Given the description of an element on the screen output the (x, y) to click on. 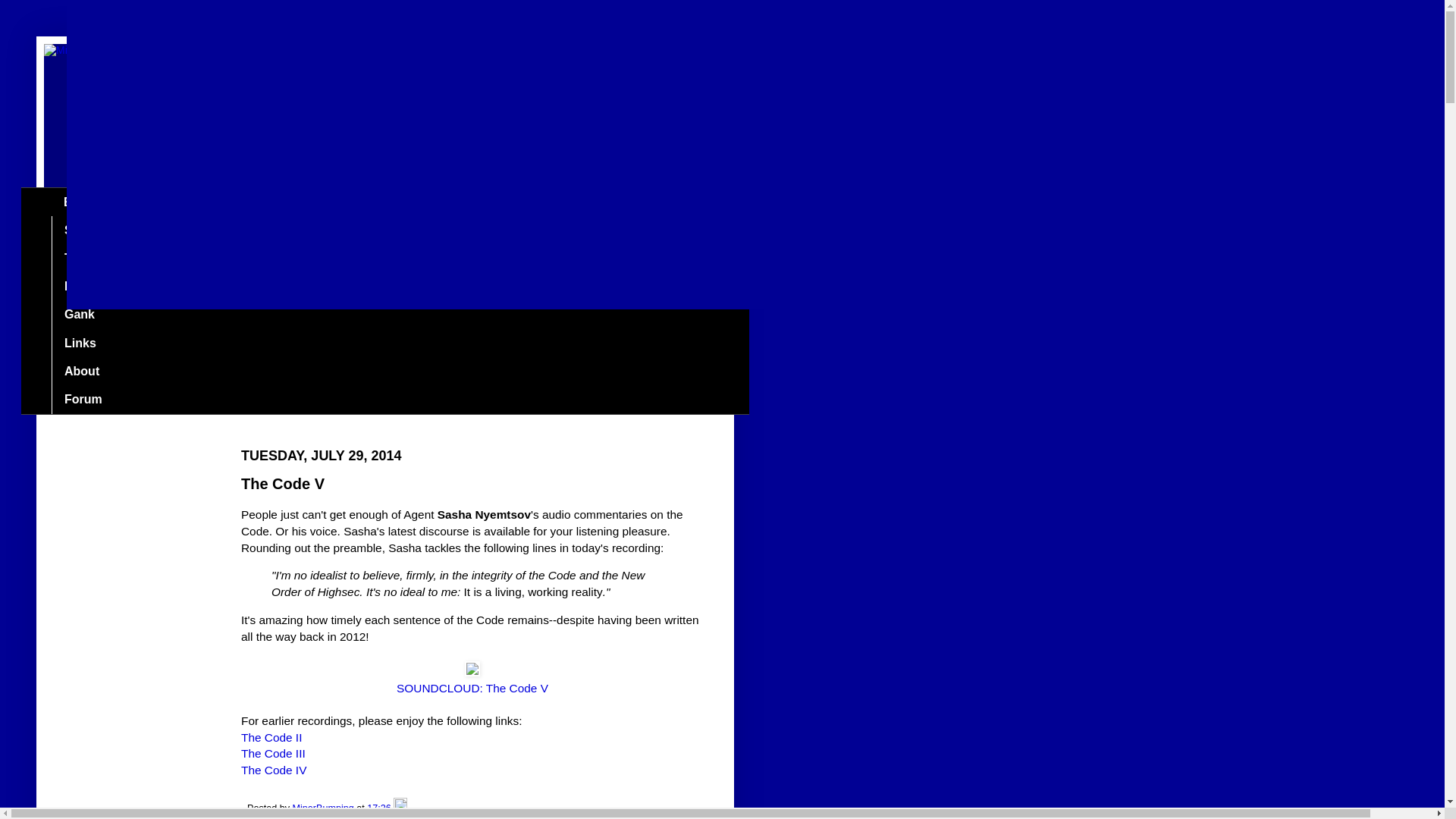
Shareholders (102, 230)
Forum (82, 398)
The Code IV (273, 769)
MinerBumping (324, 808)
Links (78, 343)
SOUNDCLOUD: The Code V (472, 687)
Become an Agent (114, 286)
author profile (324, 808)
The Code III (273, 753)
17:26 (378, 808)
Share to Twitter (364, 818)
Gank (78, 315)
Email This (269, 818)
